Given the description of an element on the screen output the (x, y) to click on. 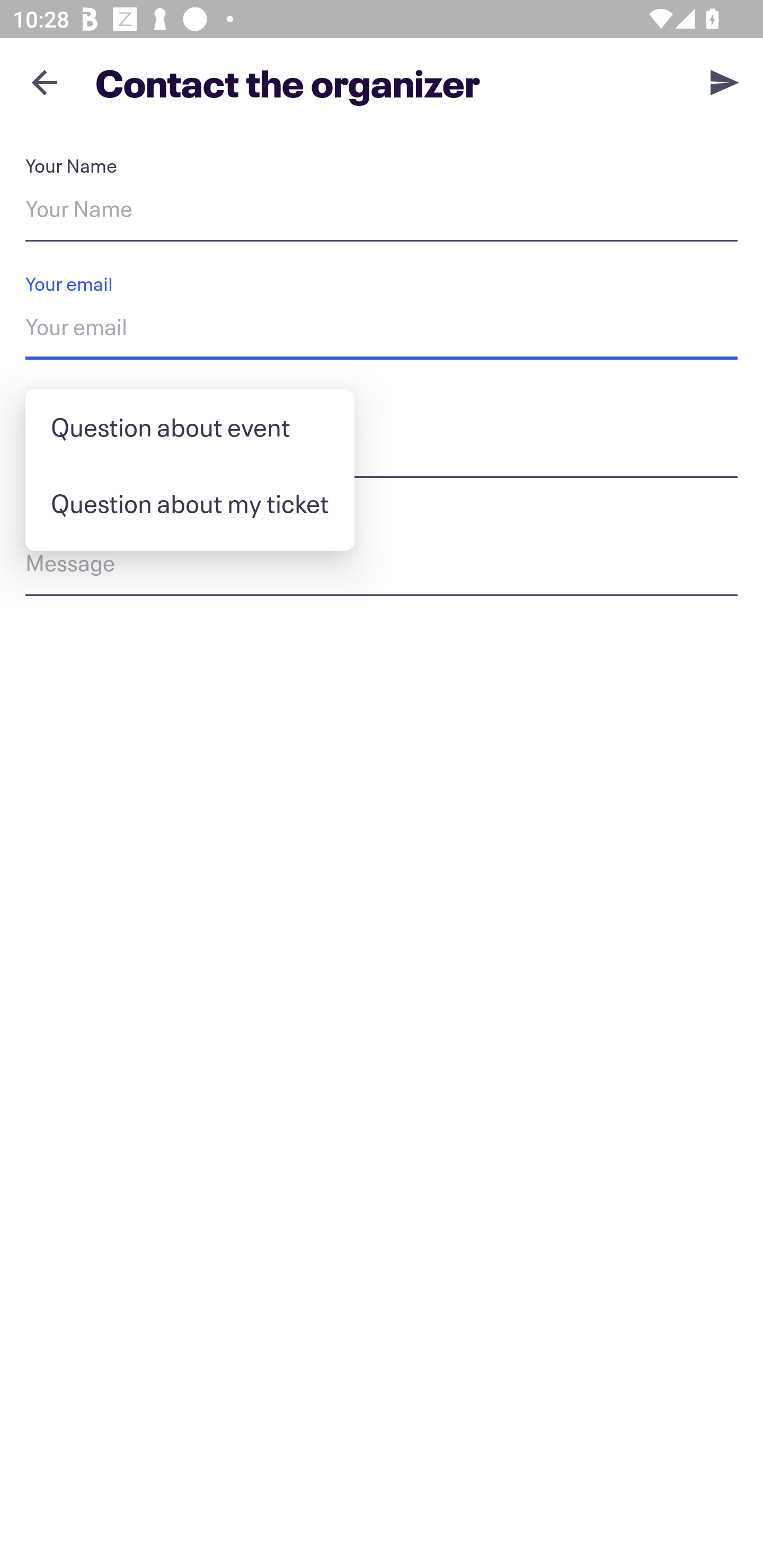
Question about event (189, 426)
Question about my ticket (189, 502)
